Given the description of an element on the screen output the (x, y) to click on. 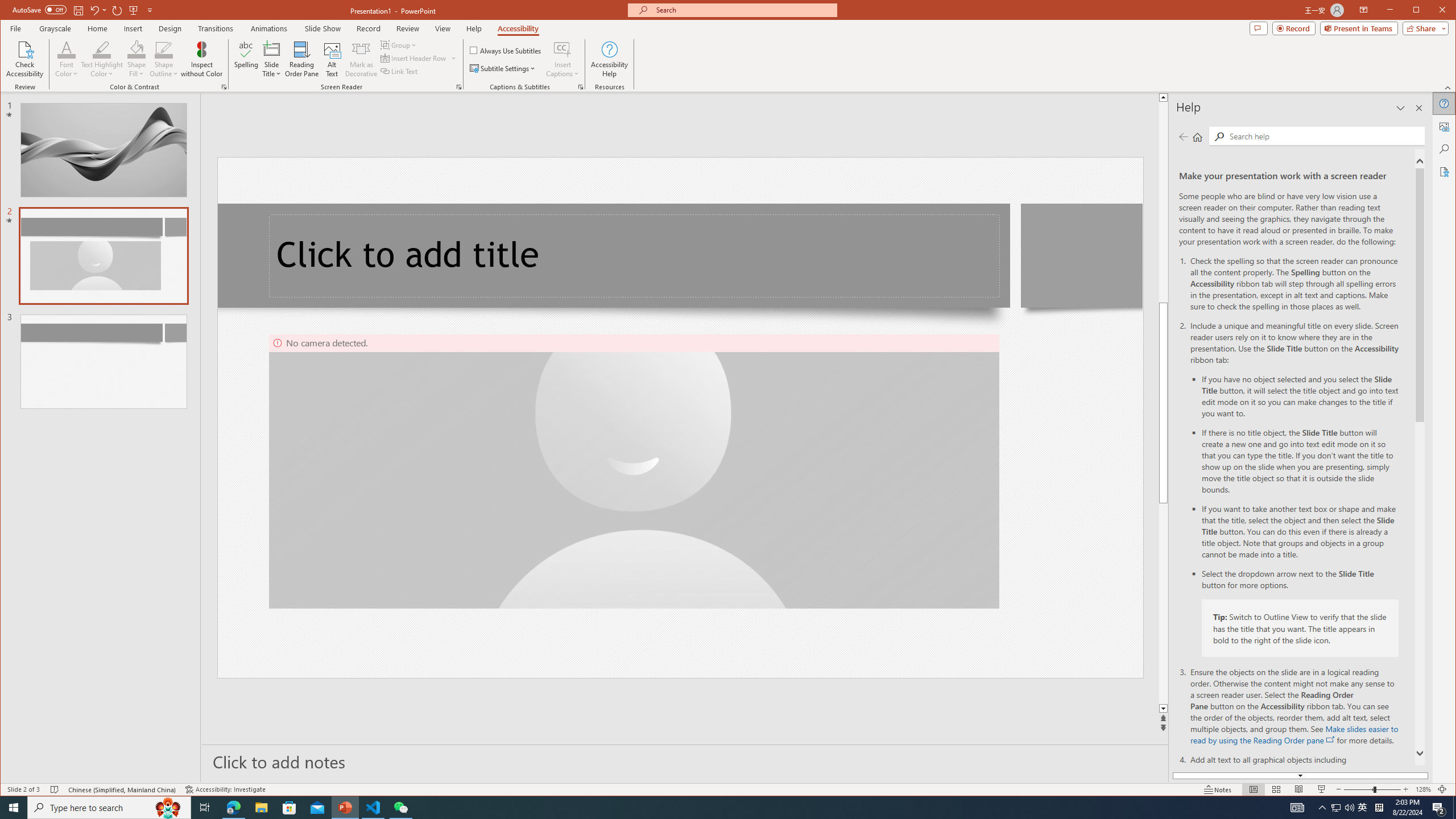
openinnewwindow (1330, 739)
Page down (1162, 603)
Color & Contrast (223, 86)
Screen Reader (458, 86)
Reading Order Pane (301, 59)
